Given the description of an element on the screen output the (x, y) to click on. 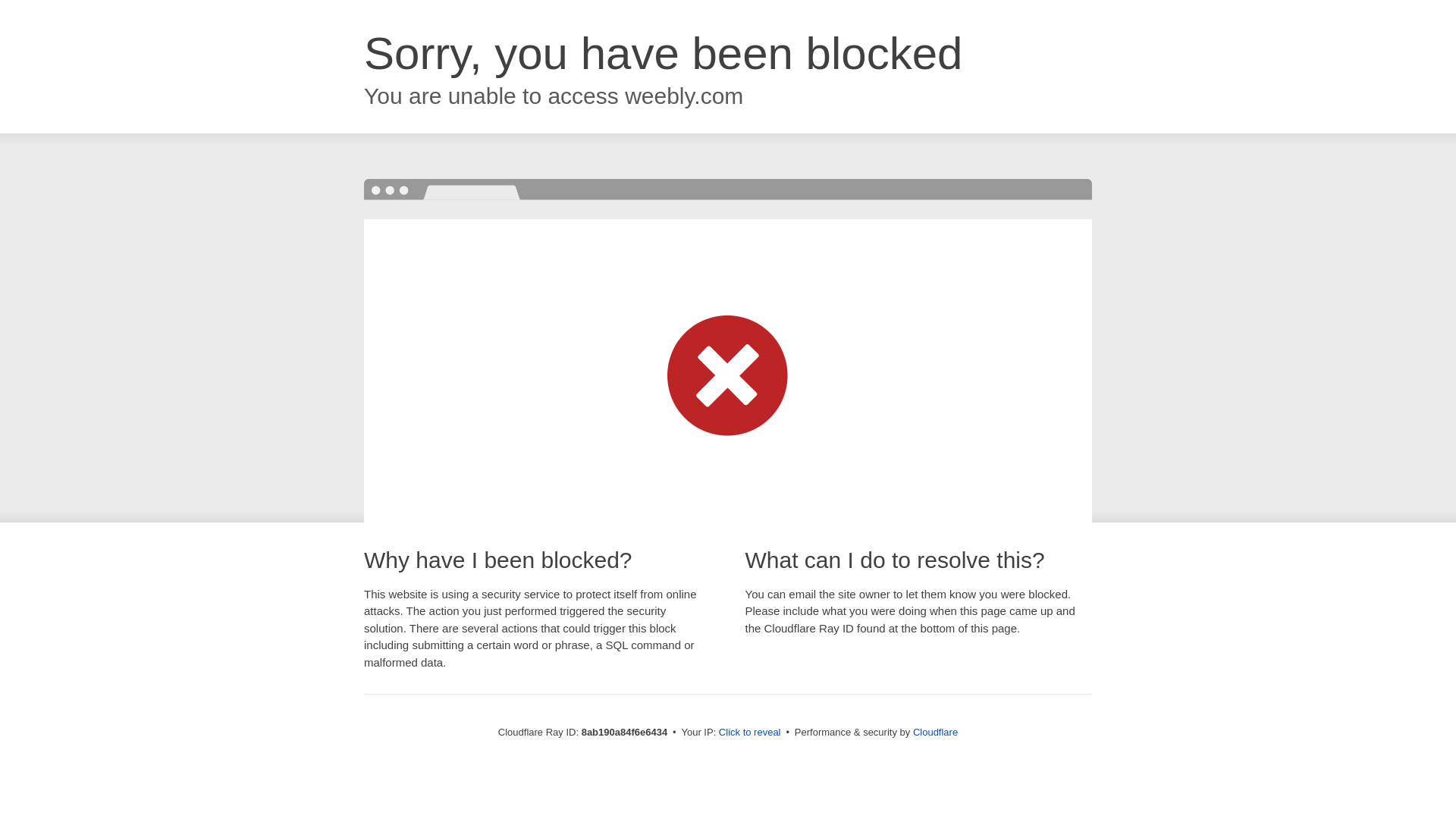
Cloudflare (935, 731)
Click to reveal (749, 732)
